Given the description of an element on the screen output the (x, y) to click on. 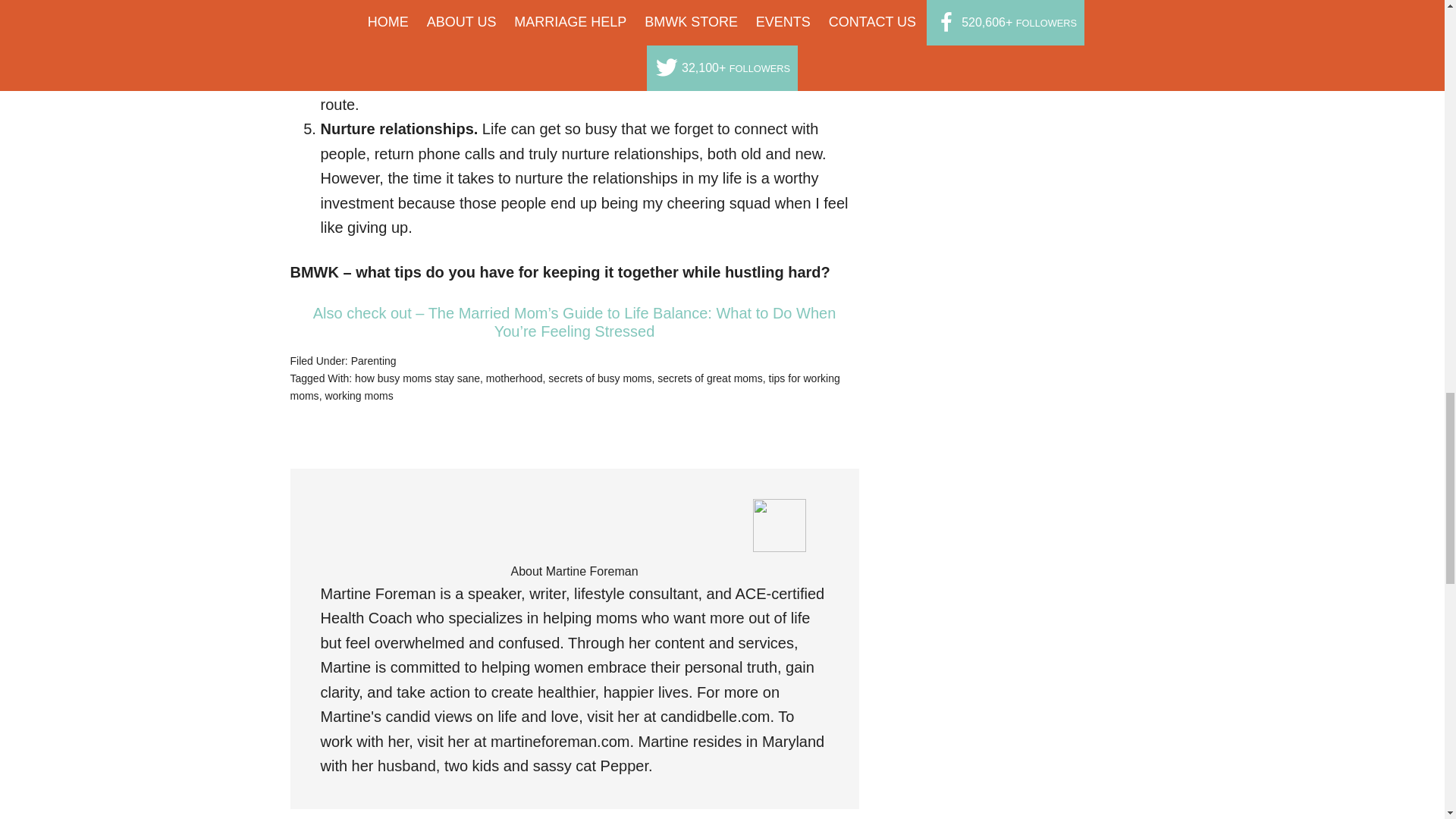
Parenting (373, 360)
motherhood (514, 378)
secrets of busy moms (599, 378)
how busy moms stay sane (417, 378)
working moms (358, 395)
secrets of great moms (710, 378)
tips for working moms (564, 387)
